Given the description of an element on the screen output the (x, y) to click on. 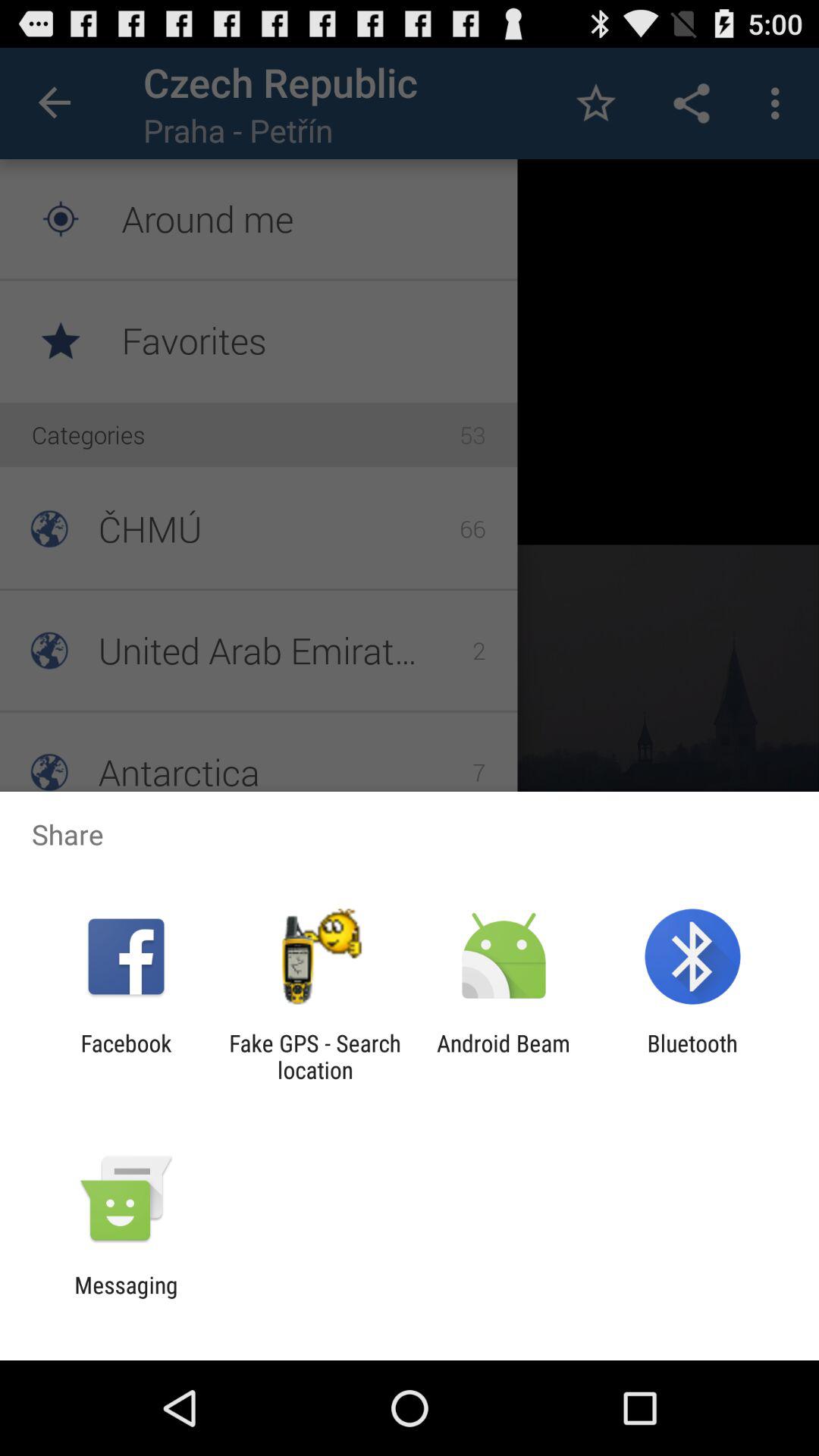
select the icon next to fake gps search icon (503, 1056)
